Given the description of an element on the screen output the (x, y) to click on. 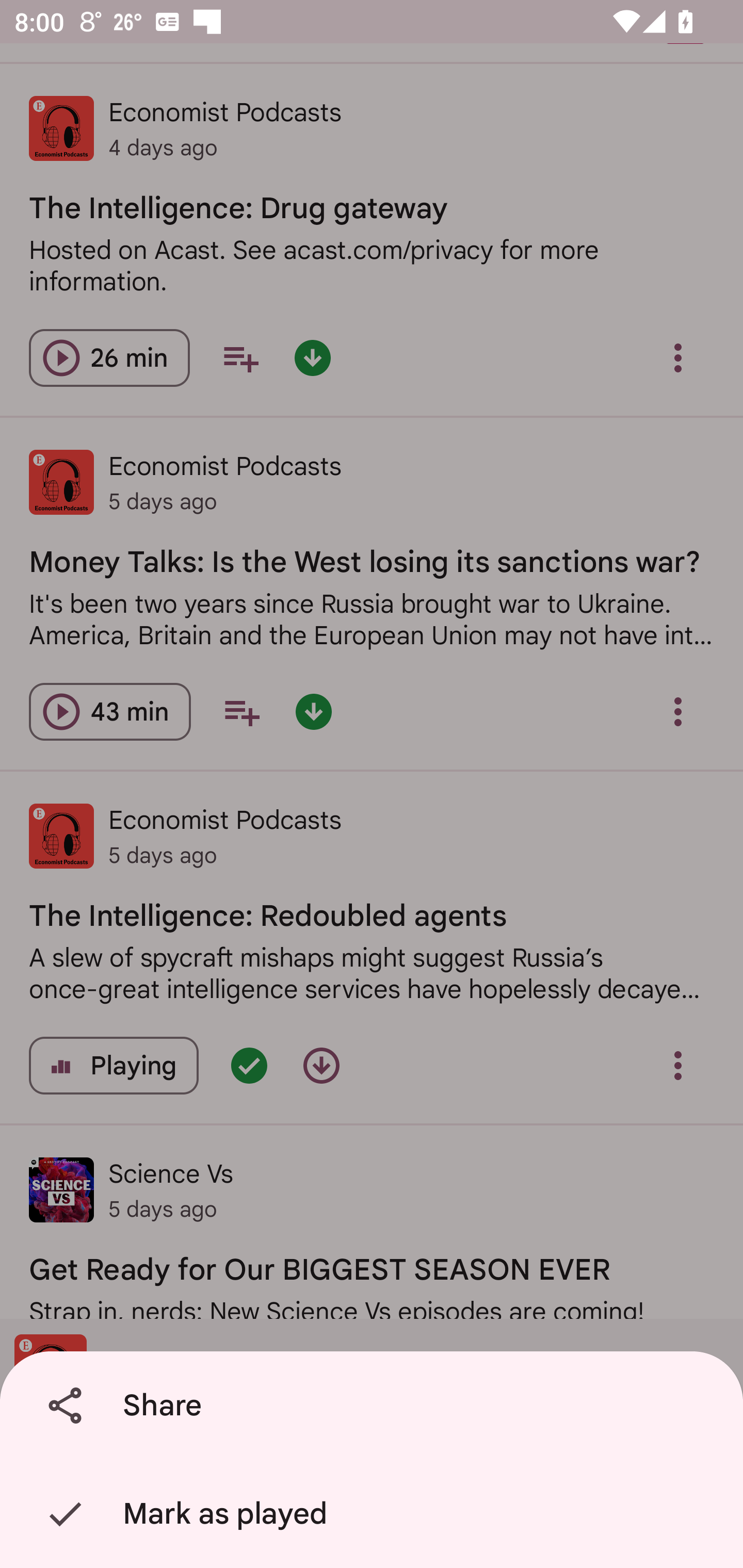
Share (375, 1405)
Mark as played (375, 1513)
